Given the description of an element on the screen output the (x, y) to click on. 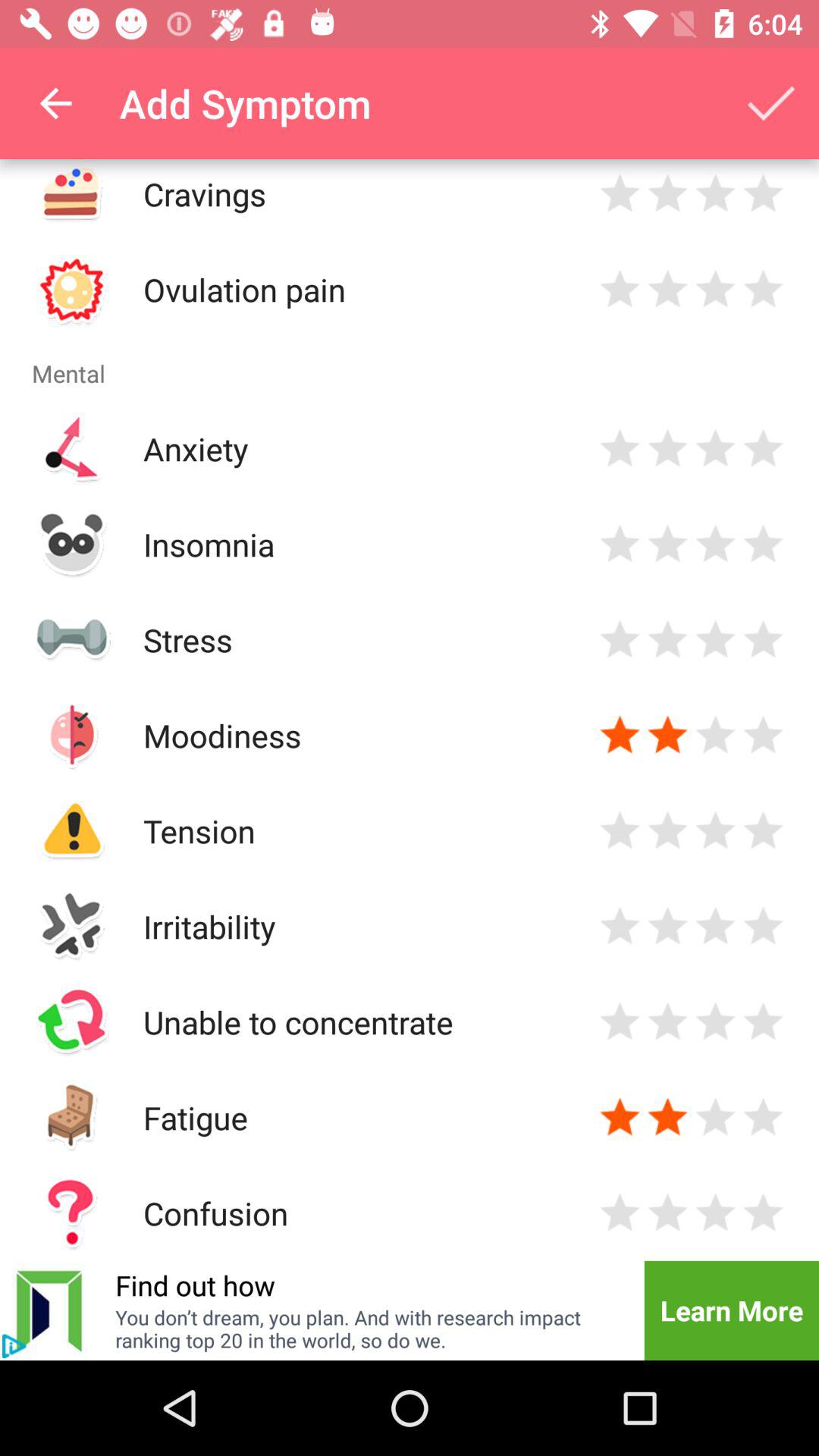
rate your symptoms (619, 289)
